Given the description of an element on the screen output the (x, y) to click on. 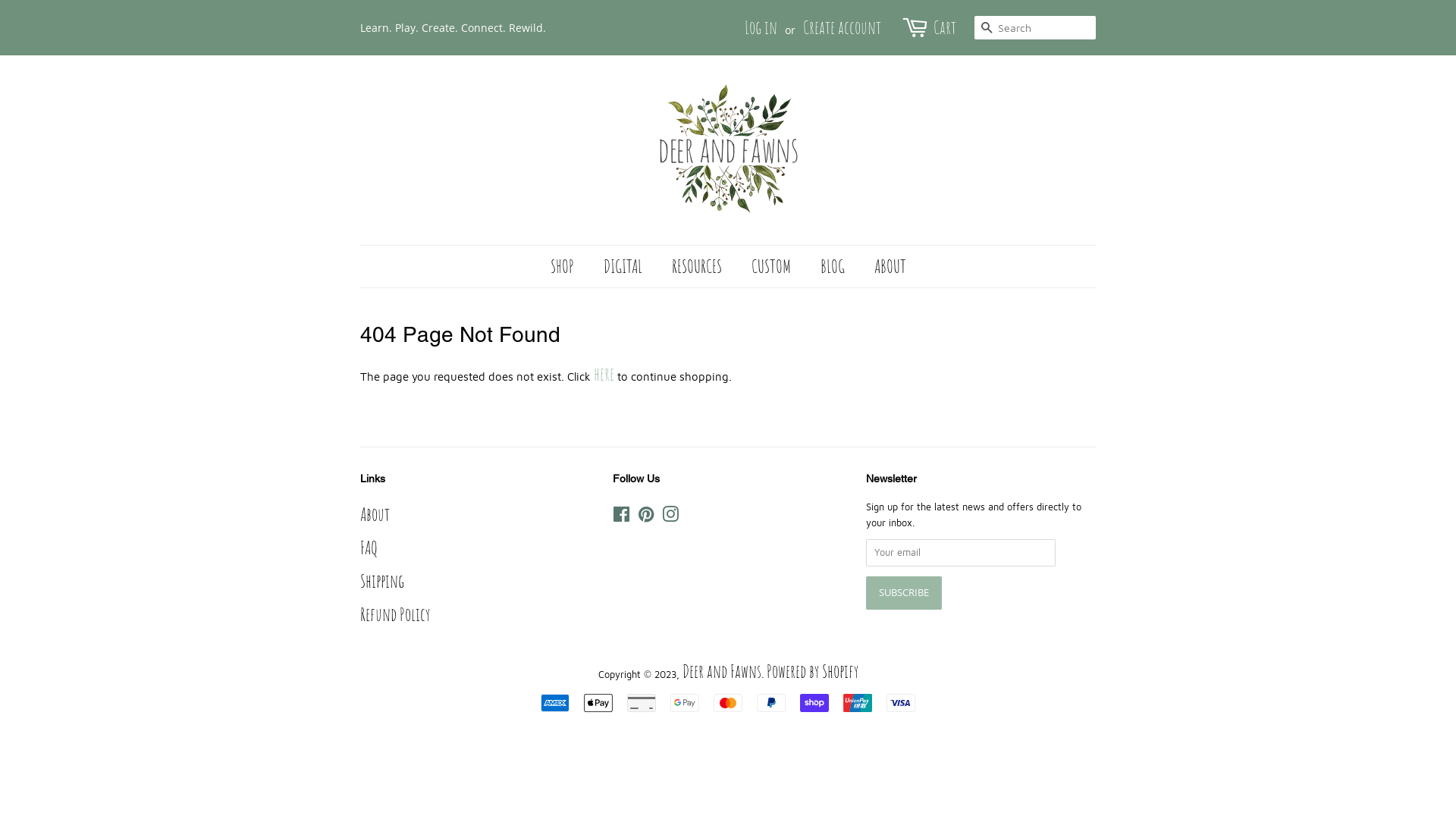
RESOURCES Element type: text (697, 266)
Refund Policy Element type: text (394, 613)
Subscribe Element type: text (903, 592)
Powered by Shopify Element type: text (811, 670)
Cart Element type: text (944, 27)
FAQ Element type: text (368, 547)
SEARCH Element type: text (986, 27)
BLOG Element type: text (833, 266)
Deer and Fawns Element type: text (721, 670)
Shipping Element type: text (382, 580)
ABOUT Element type: text (884, 266)
Log in Element type: text (760, 26)
Instagram Element type: text (670, 513)
Facebook Element type: text (621, 513)
SHOP Element type: text (569, 266)
DIGITAL Element type: text (623, 266)
Create account Element type: text (842, 26)
About Element type: text (374, 513)
CUSTOM Element type: text (773, 266)
Pinterest Element type: text (645, 513)
here Element type: text (603, 373)
